Given the description of an element on the screen output the (x, y) to click on. 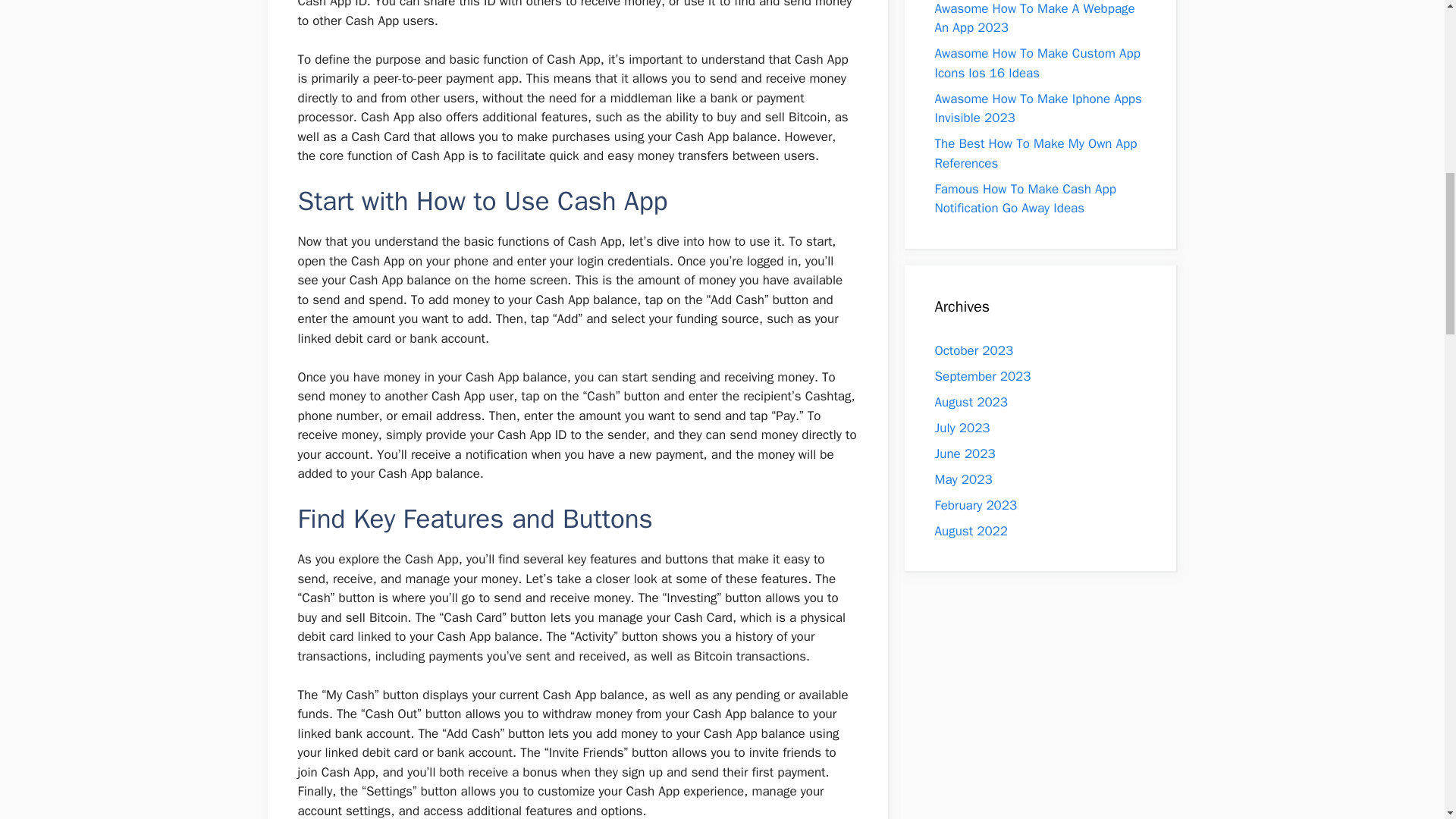
October 2023 (973, 350)
May 2023 (962, 479)
The Best How To Make My Own App References (1035, 153)
Awasome How To Make Iphone Apps Invisible 2023 (1037, 108)
February 2023 (975, 505)
August 2023 (970, 401)
Famous How To Make Cash App Notification Go Away Ideas (1024, 198)
June 2023 (964, 453)
Awasome How To Make Custom App Icons Ios 16 Ideas (1037, 63)
September 2023 (982, 376)
July 2023 (962, 427)
Awasome How To Make A Webpage An App 2023 (1034, 18)
